Given the description of an element on the screen output the (x, y) to click on. 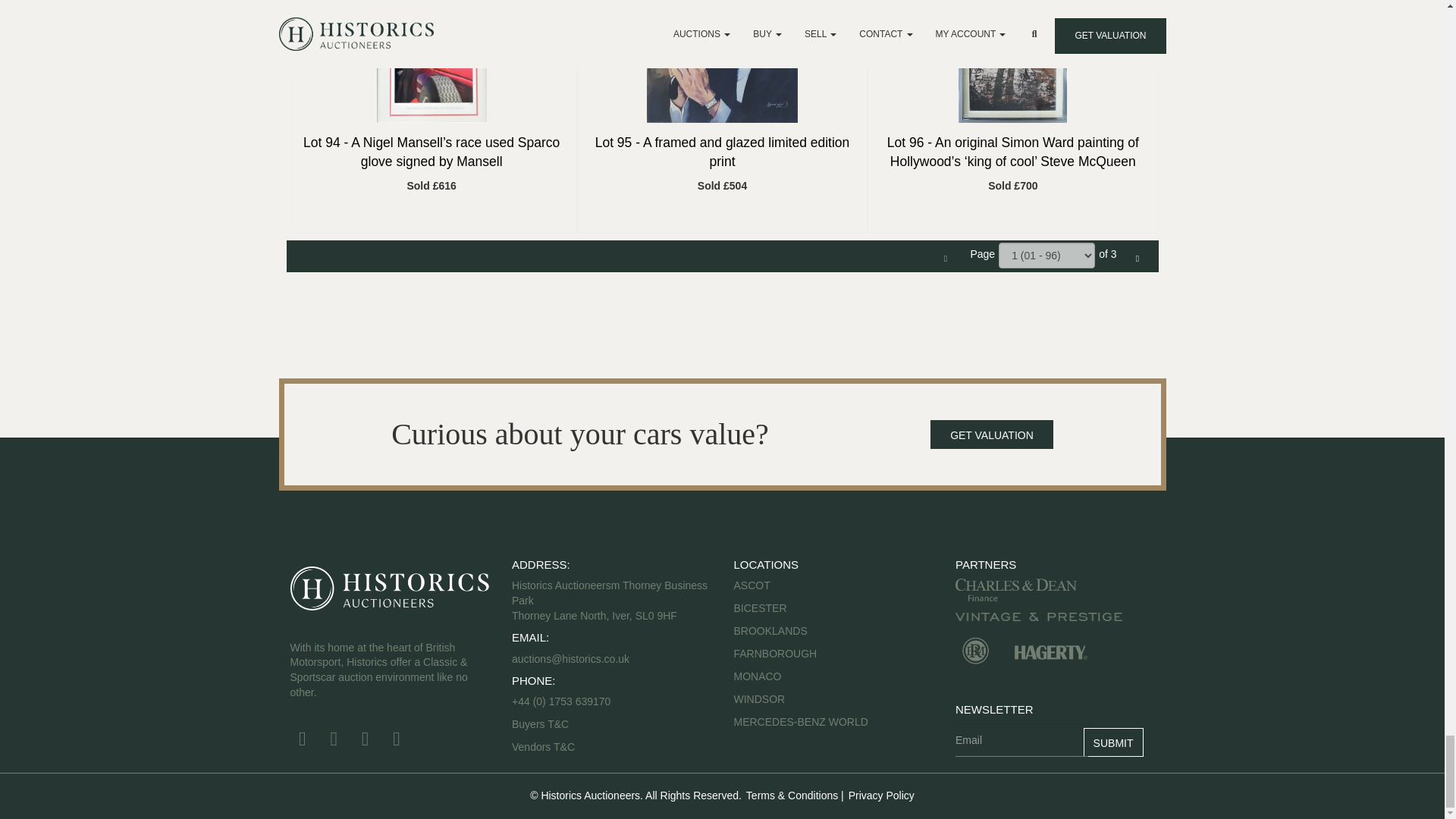
Submit (1112, 742)
